Given the description of an element on the screen output the (x, y) to click on. 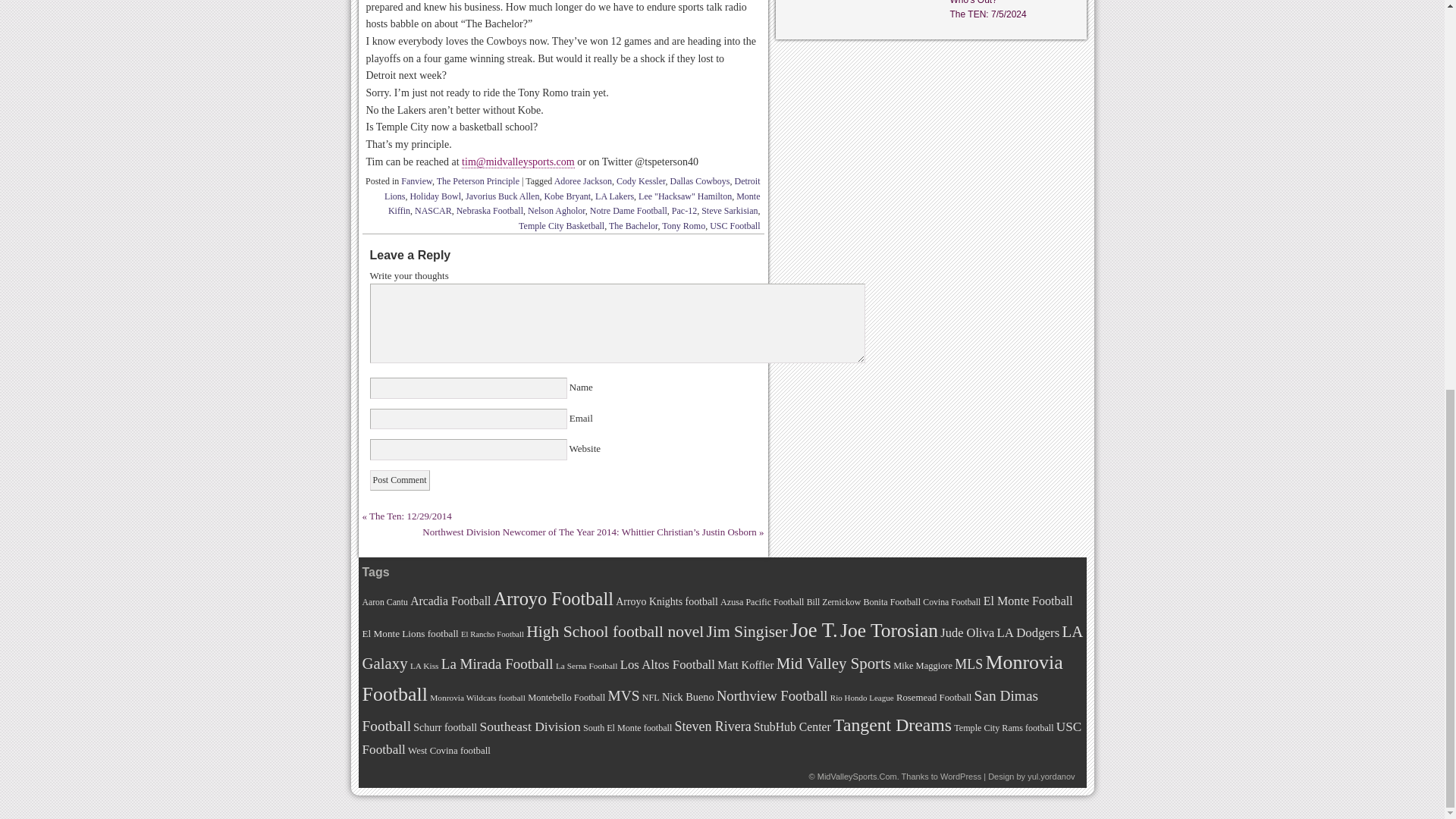
The Peterson Principle (477, 181)
Kobe Bryant (567, 195)
Lee "Hacksaw" Hamilton (685, 195)
Dallas Cowboys (699, 181)
LA Lakers (614, 195)
Adoree Jackson (582, 181)
Holiday Bowl (435, 195)
Fanview (416, 181)
Javorius Buck Allen (501, 195)
Detroit Lions (572, 188)
Post Comment (399, 480)
Cody Kessler (640, 181)
